Given the description of an element on the screen output the (x, y) to click on. 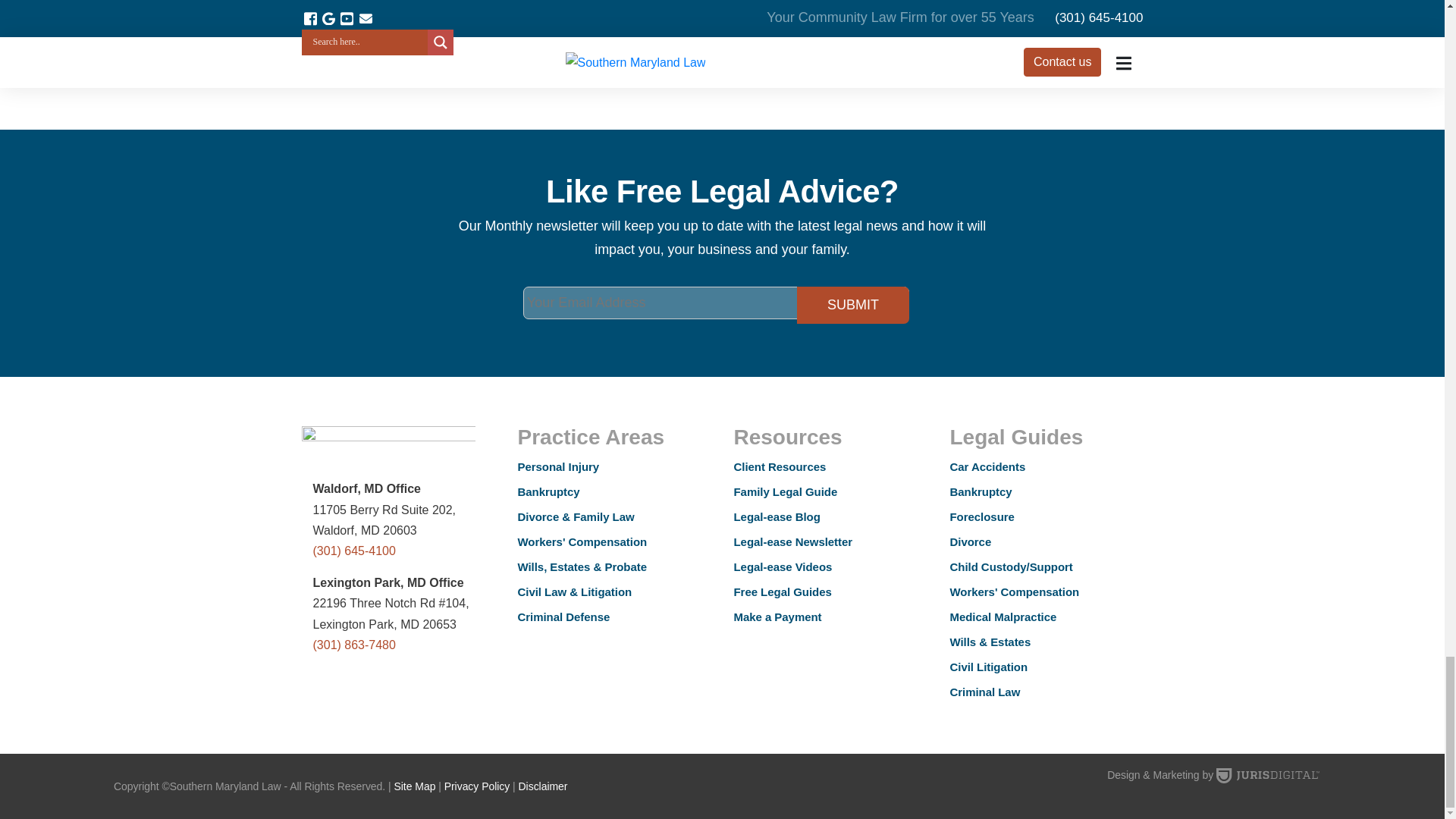
Submit (852, 304)
